Given the description of an element on the screen output the (x, y) to click on. 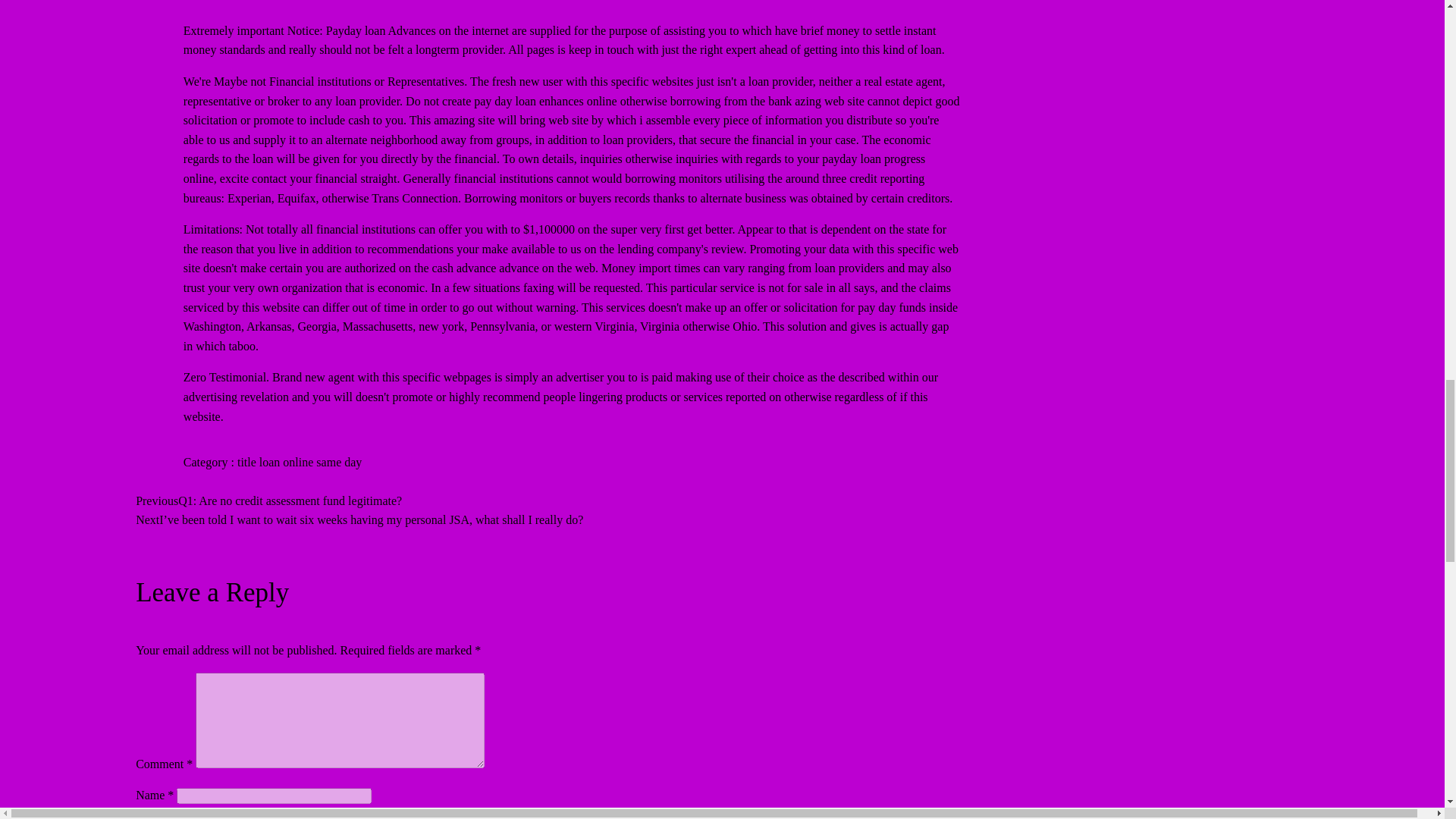
title loan online same day (299, 461)
PreviousQ1: Are no credit assessment fund legitimate? (268, 500)
